Given the description of an element on the screen output the (x, y) to click on. 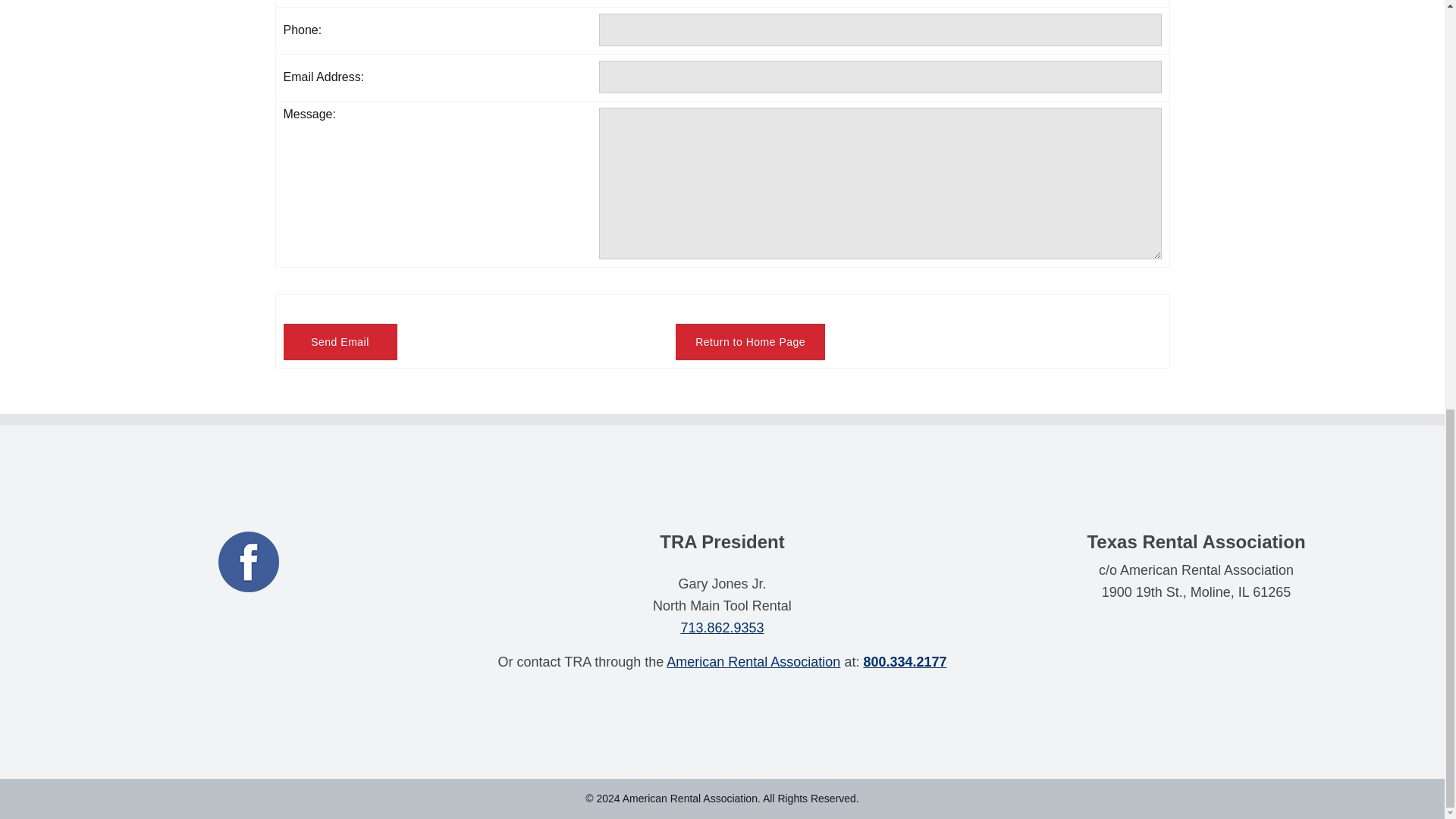
Return to Home Page (750, 341)
800.334.2177 (904, 661)
713.862.9353 (720, 627)
Send Email (340, 341)
Send Email (340, 341)
American Rental Association (753, 661)
Return to Home Page (750, 341)
